Given the description of an element on the screen output the (x, y) to click on. 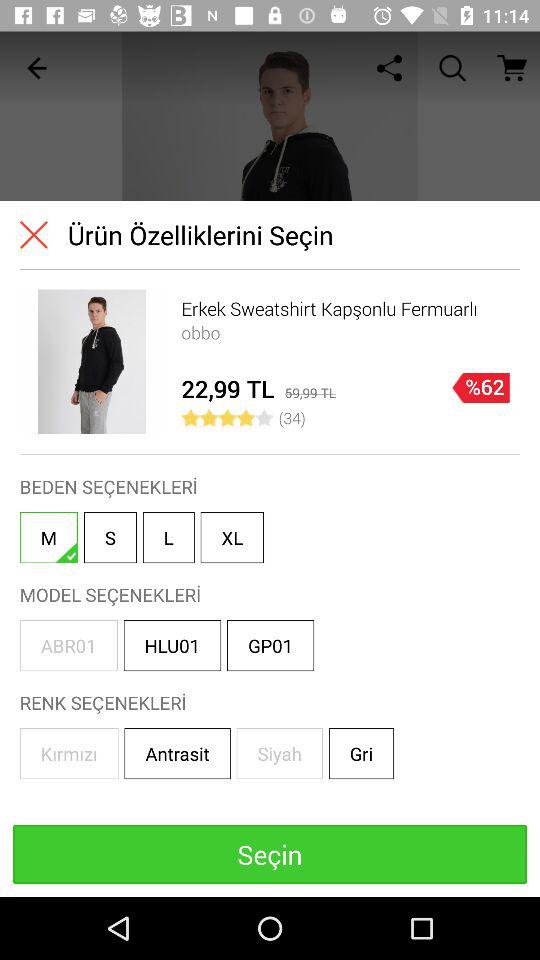
open the item to the left of antrasit (68, 753)
